Given the description of an element on the screen output the (x, y) to click on. 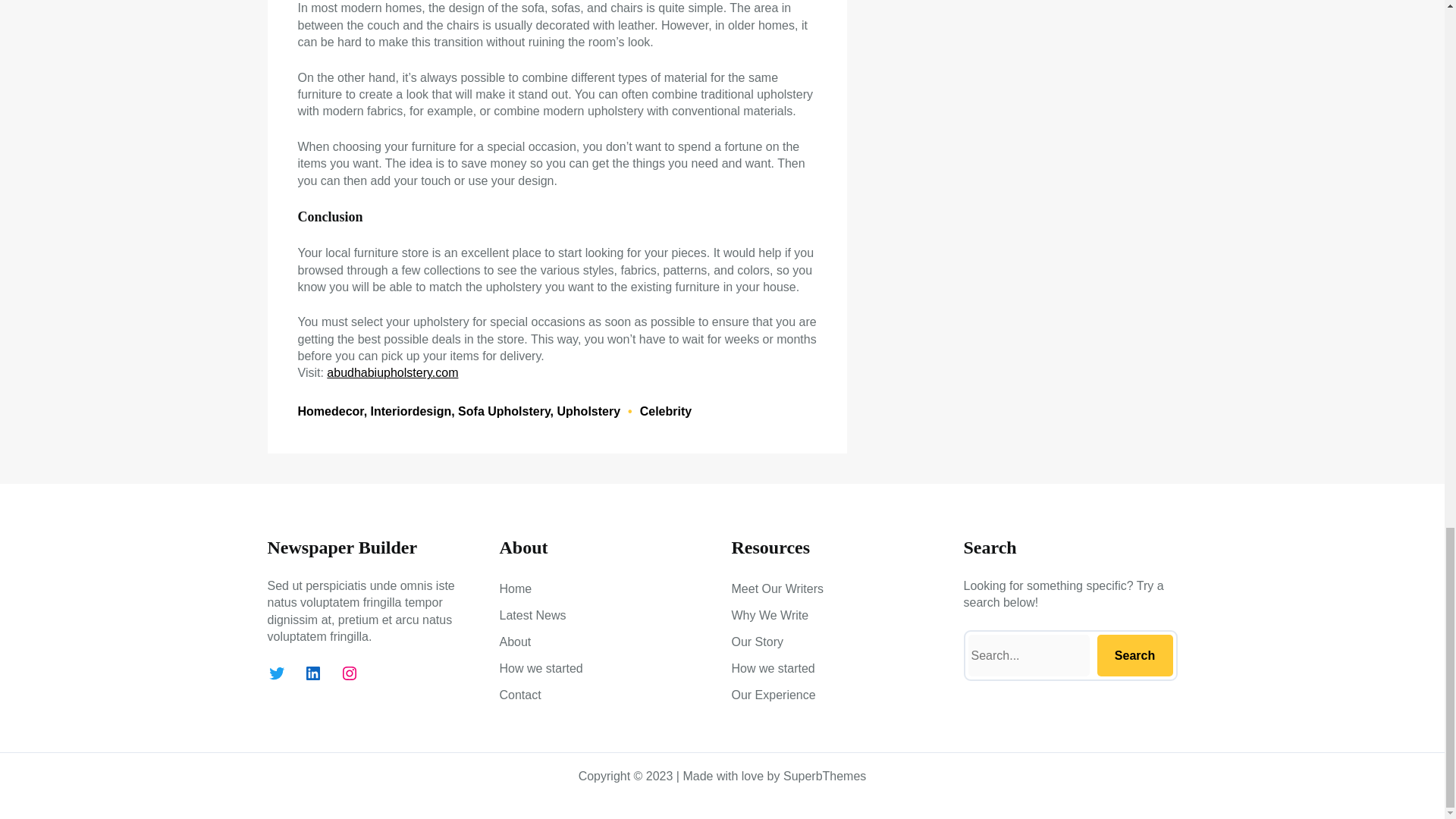
Upholstery (588, 410)
LinkedIn (311, 673)
Sofa Upholstery (504, 410)
How we started (540, 668)
Interiordesign (411, 410)
abudhabiupholstery.com (392, 372)
Home (515, 589)
Our Experience (772, 694)
Twitter (275, 673)
Celebrity (665, 410)
